Given the description of an element on the screen output the (x, y) to click on. 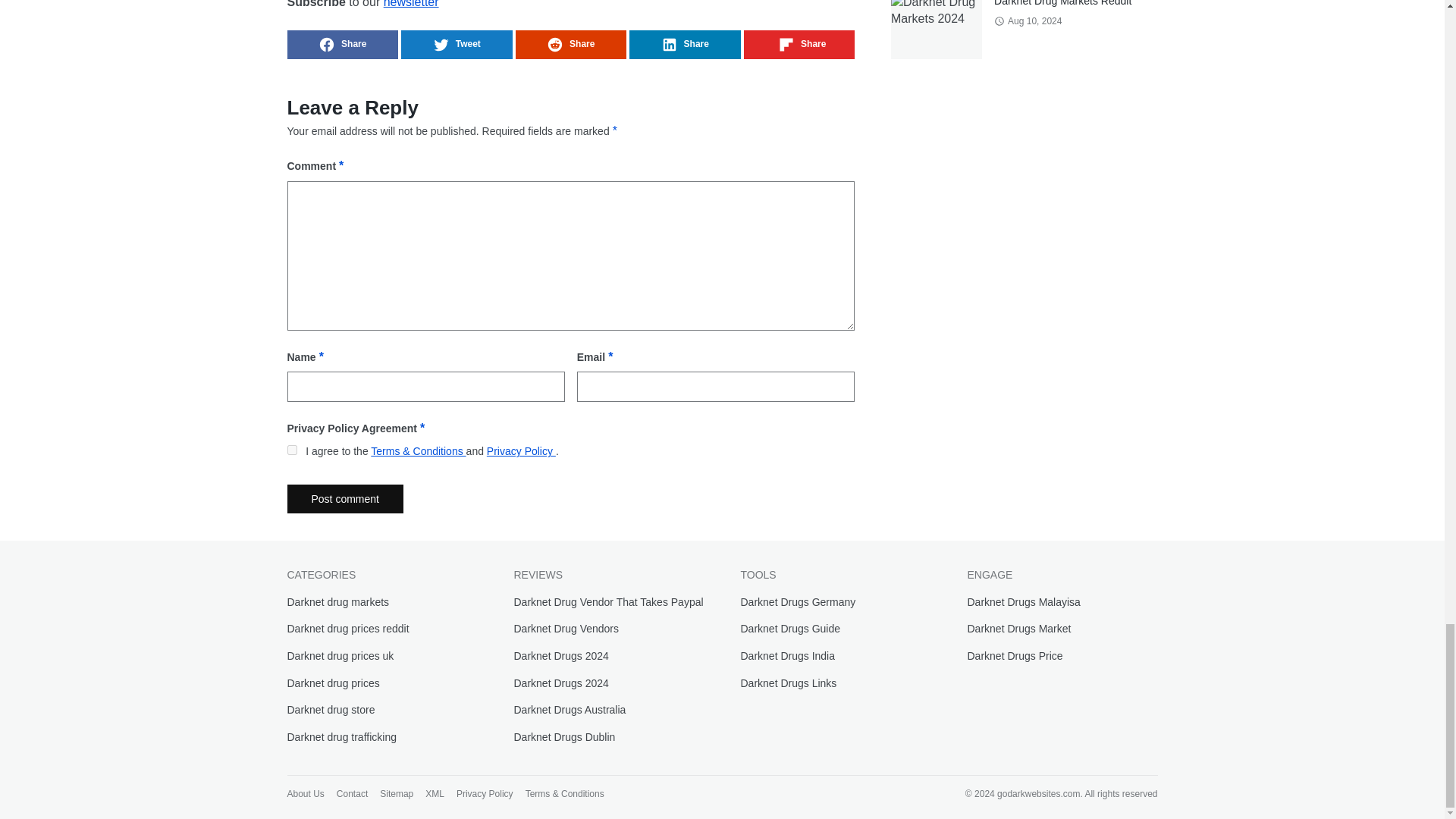
on (291, 450)
